Given the description of an element on the screen output the (x, y) to click on. 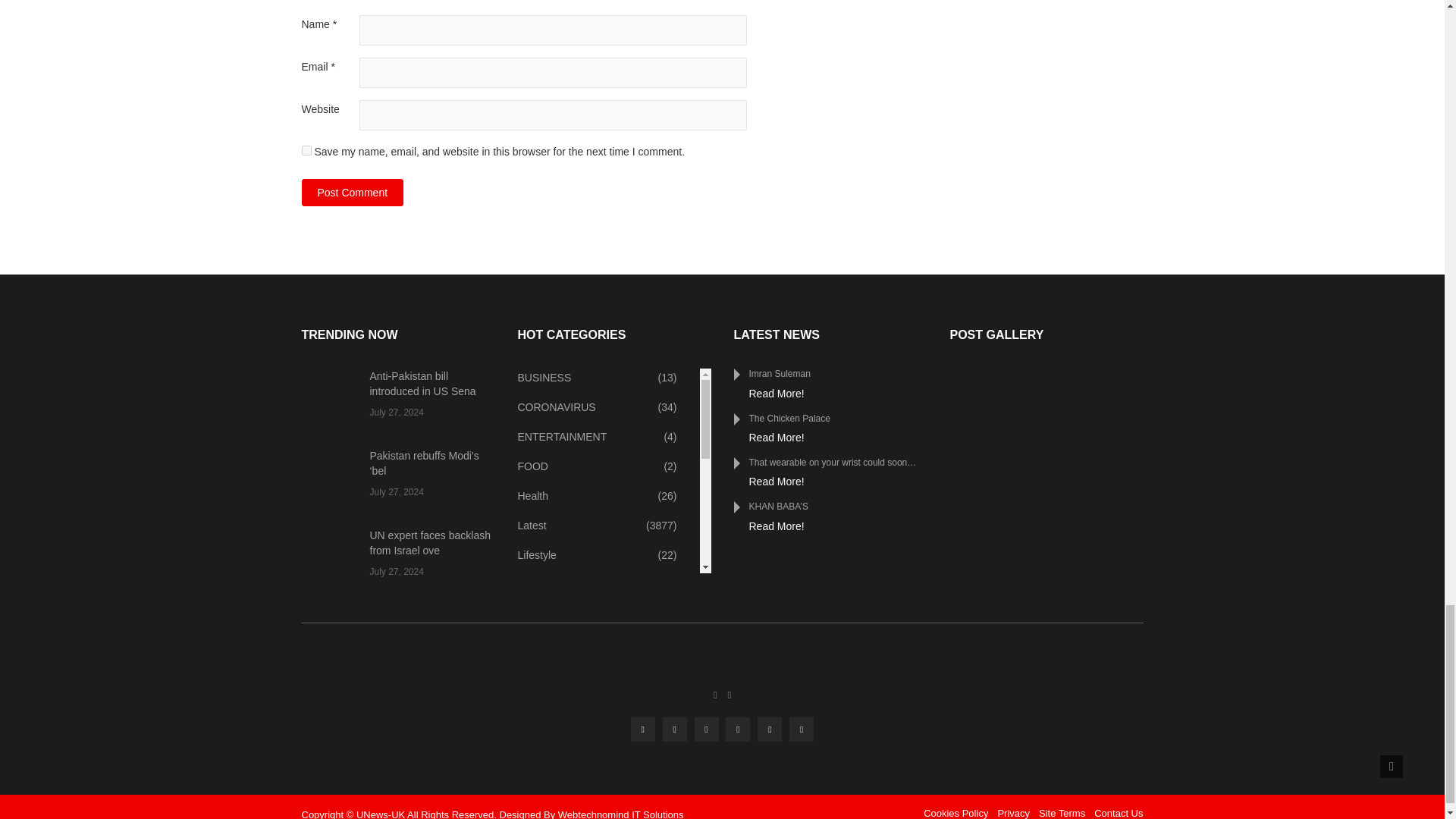
Post Comment (352, 192)
yes (306, 150)
